Given the description of an element on the screen output the (x, y) to click on. 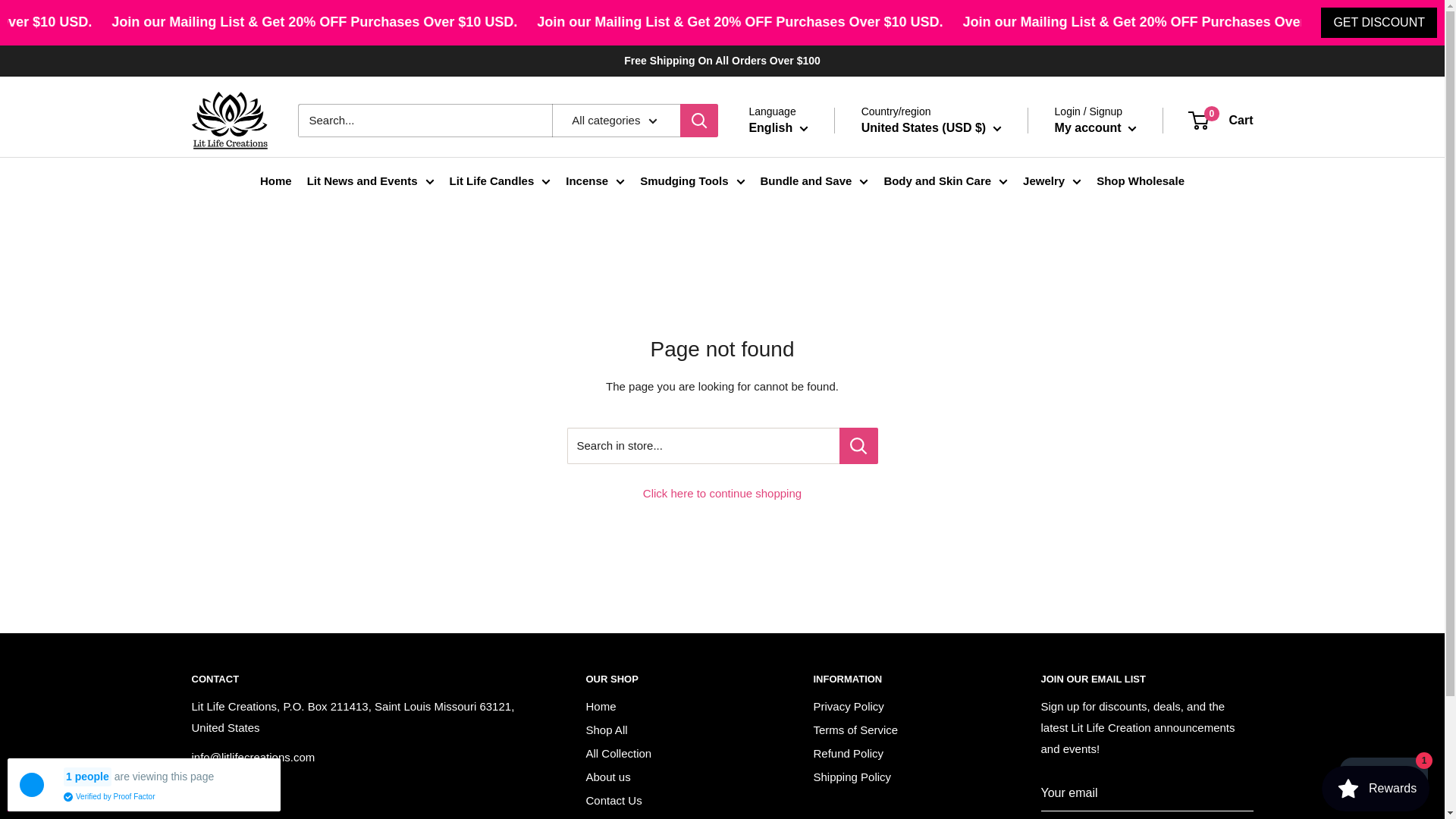
Smile.io Rewards Program Launcher (1375, 788)
GET DISCOUNT (1378, 22)
tel:3142767203 (221, 785)
Shopify online store chat (1383, 781)
